Given the description of an element on the screen output the (x, y) to click on. 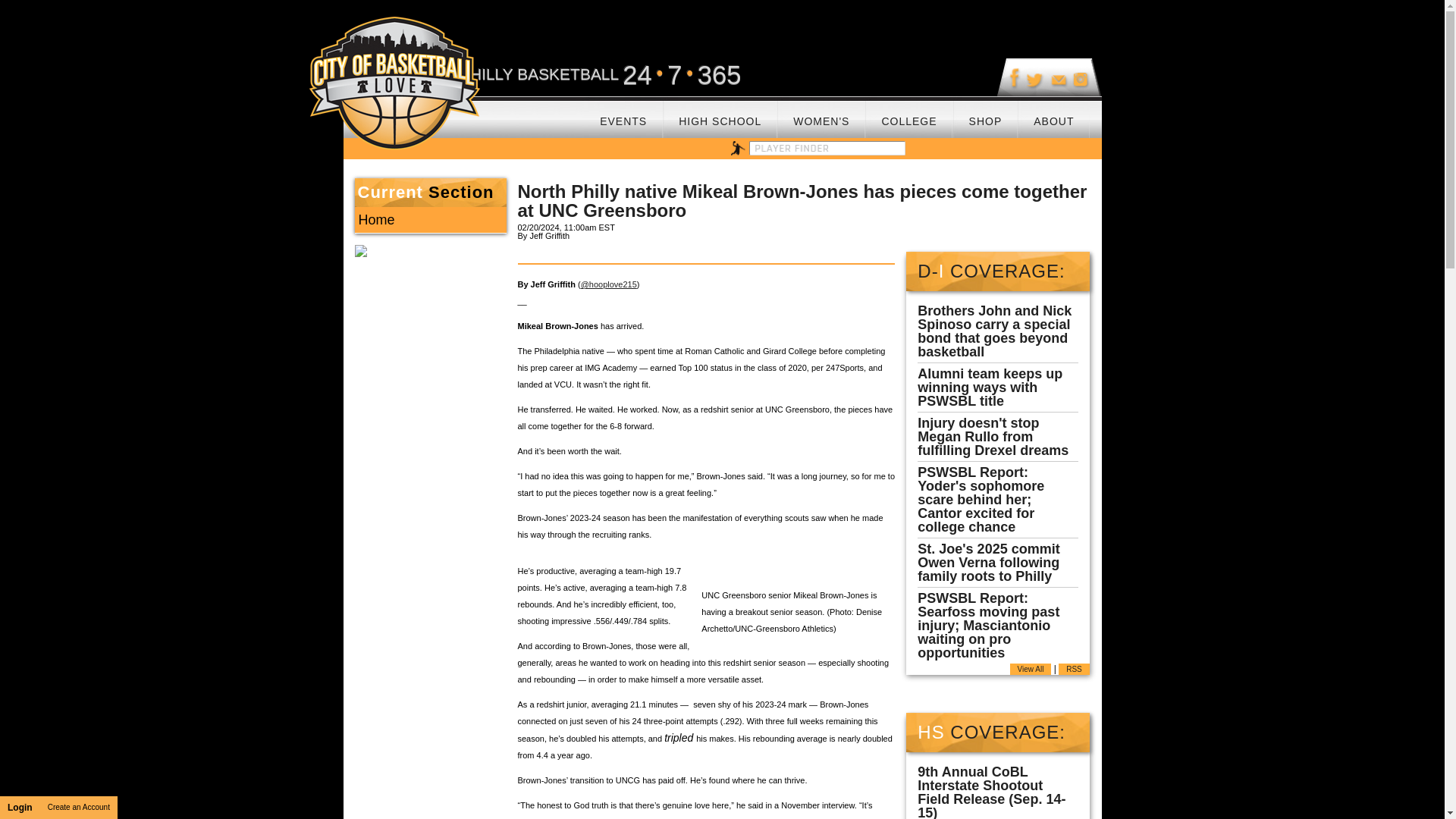
click to go to 'Women's Coverage' (820, 116)
COLLEGE (908, 116)
click to go to 'College' (908, 116)
WOMEN'S (820, 116)
SHOP (985, 116)
EVENTS (622, 116)
click to go to 'High School' (719, 116)
ABOUT (1053, 116)
click to go to 'Events' (622, 116)
Create an Account (78, 807)
